Given the description of an element on the screen output the (x, y) to click on. 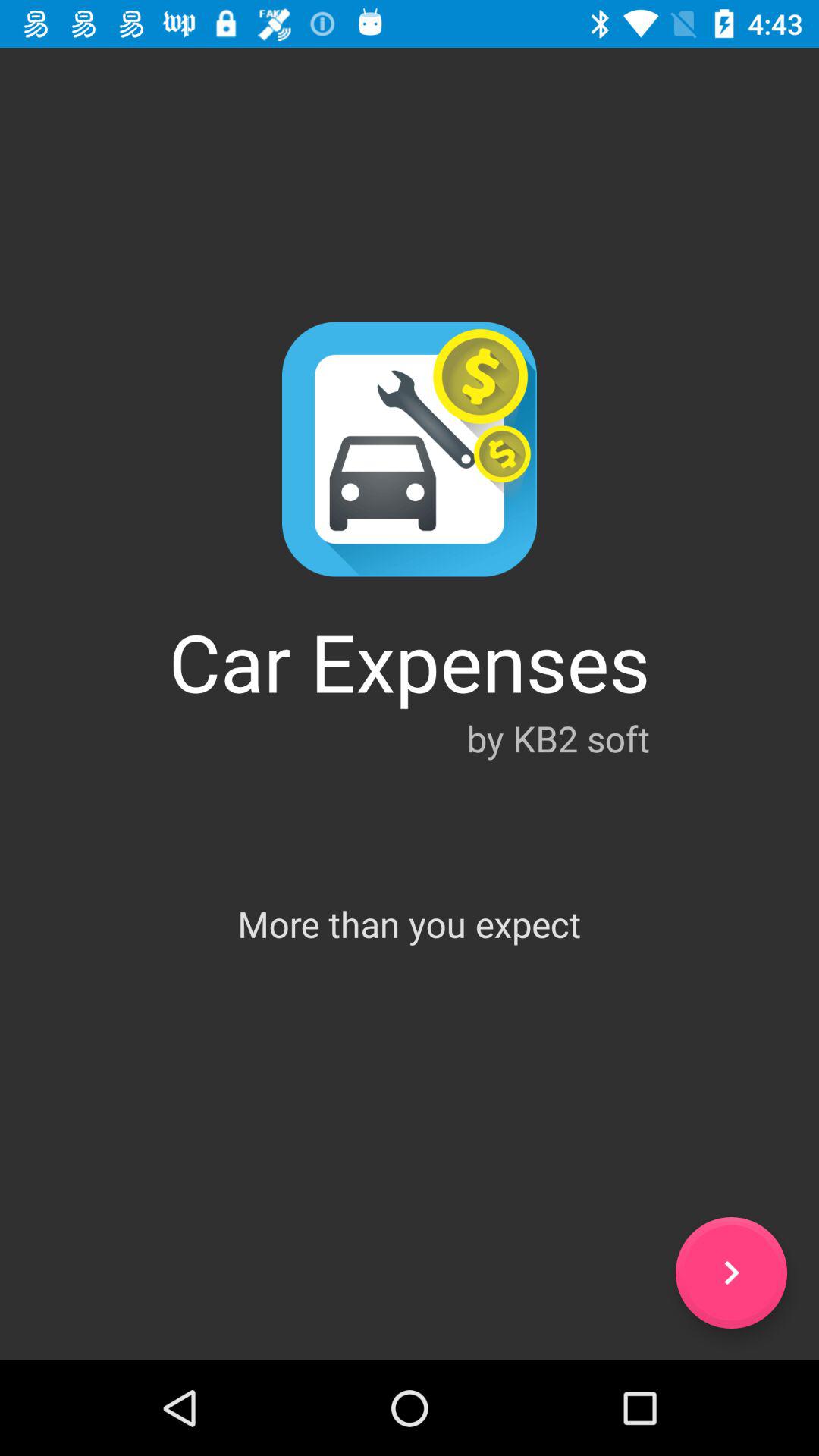
click icon below more than you item (731, 1272)
